Given the description of an element on the screen output the (x, y) to click on. 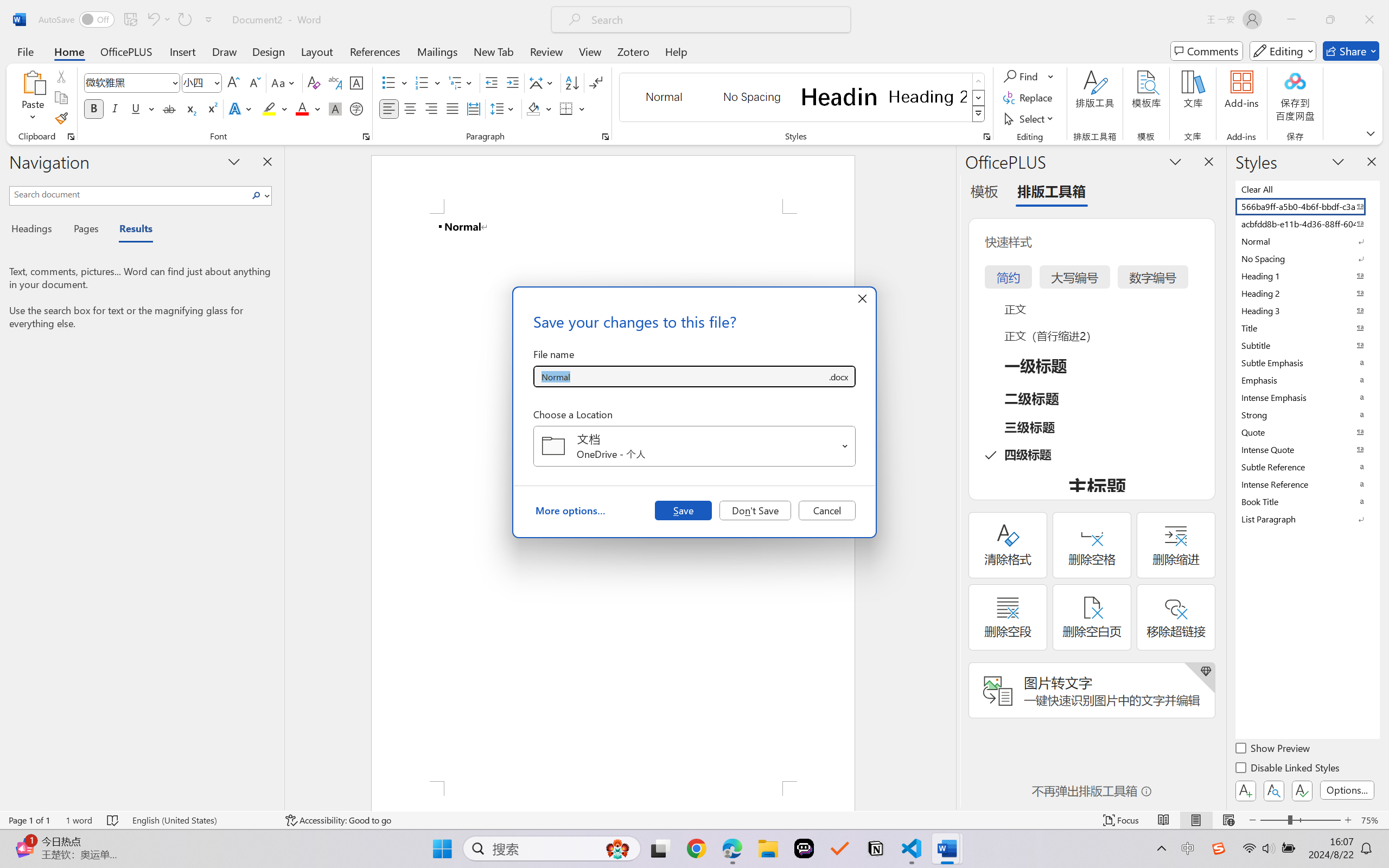
No Spacing (1306, 258)
AutomationID: QuickStylesGallery (802, 97)
Phonetic Guide... (334, 82)
Align Left (388, 108)
Layout (316, 51)
Shading (539, 108)
Pages (85, 229)
Intense Reference (1306, 484)
Distributed (473, 108)
Quote (1306, 431)
Title (1306, 327)
Cut (60, 75)
